Given the description of an element on the screen output the (x, y) to click on. 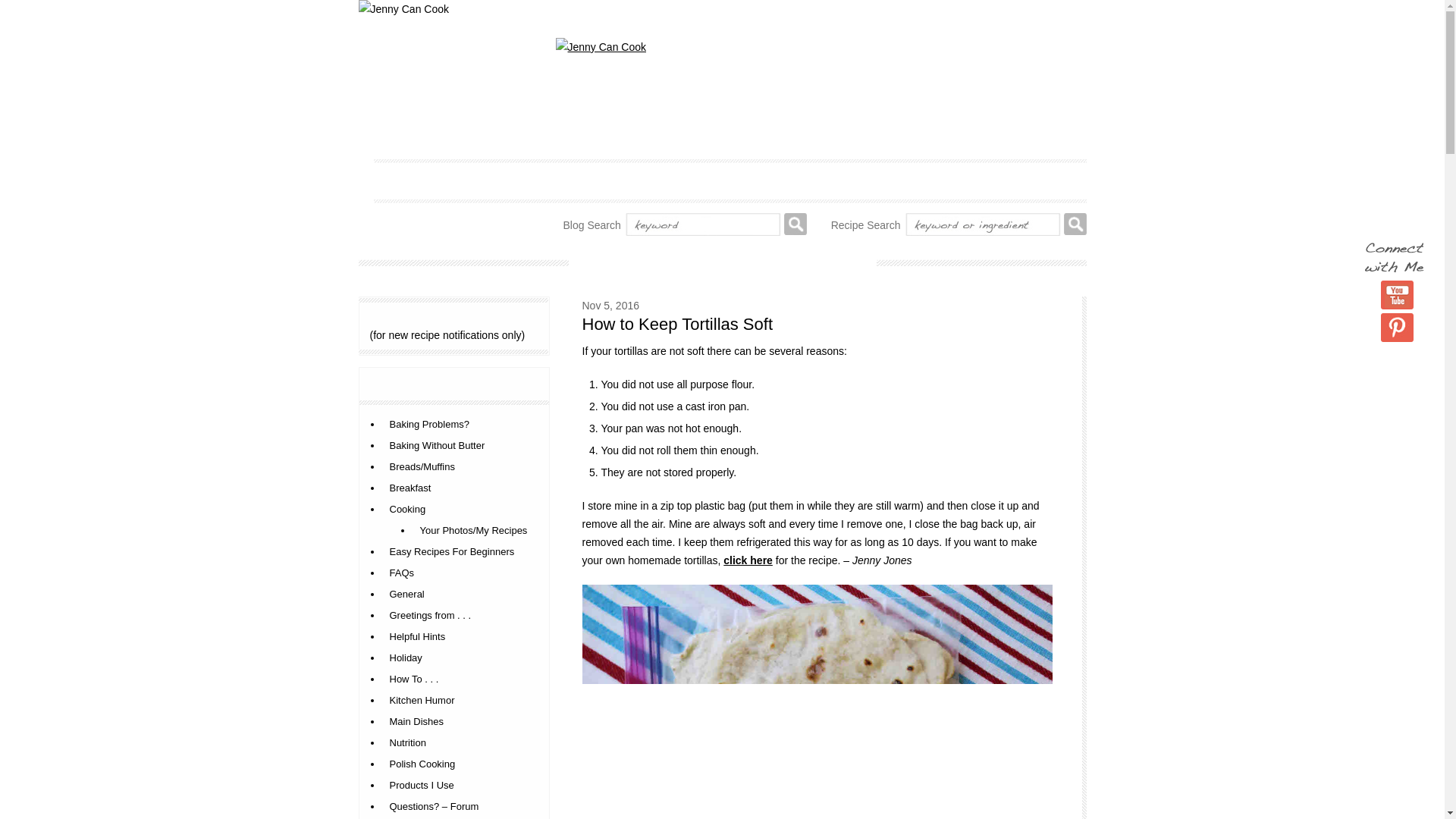
Search (795, 223)
Search (795, 223)
click here (748, 560)
Search (1074, 223)
How to Keep Tortillas Soft (677, 323)
Search (1074, 223)
youtube (1396, 294)
pinterest (1396, 327)
